Given the description of an element on the screen output the (x, y) to click on. 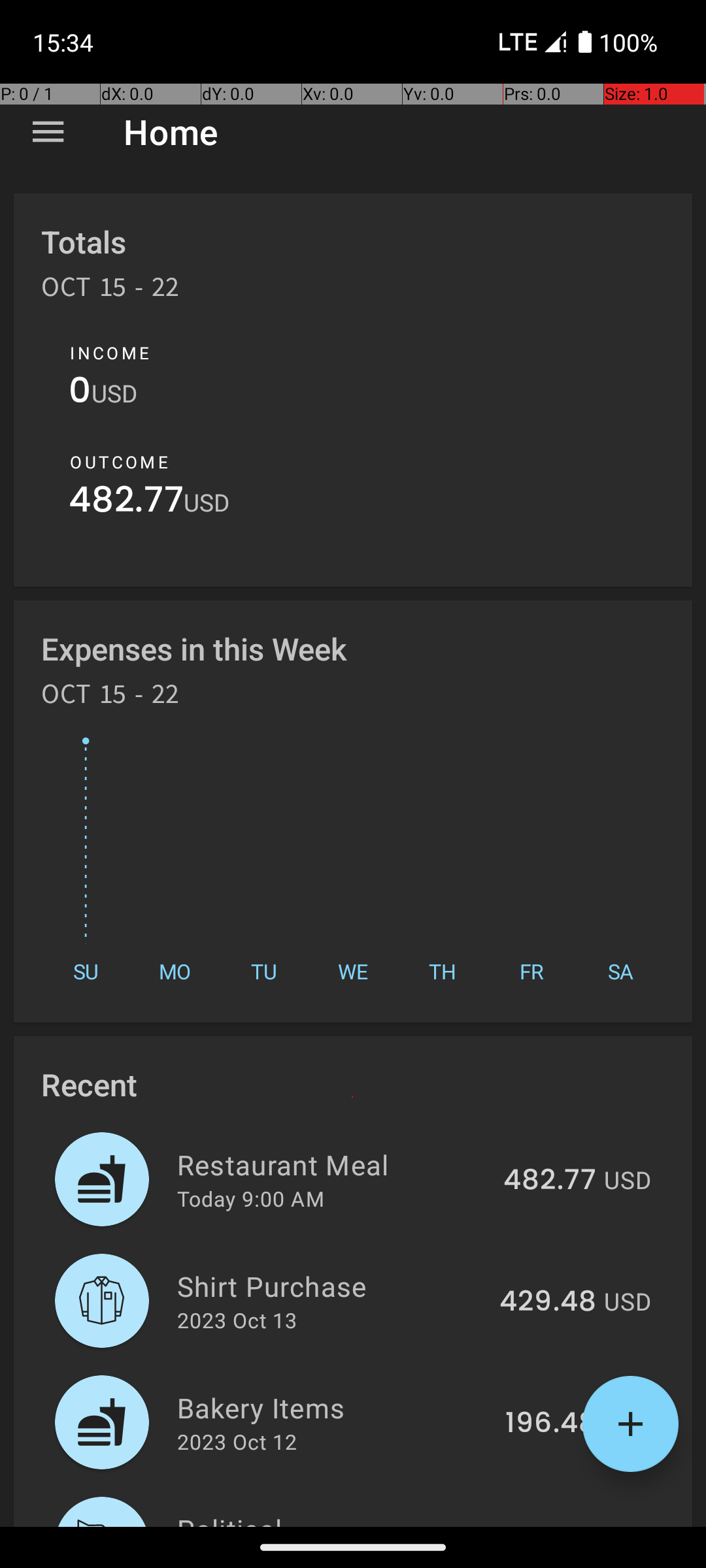
482.77 Element type: android.widget.TextView (125, 502)
Restaurant Meal Element type: android.widget.TextView (332, 1164)
Today 9:00 AM Element type: android.widget.TextView (250, 1198)
Shirt Purchase Element type: android.widget.TextView (330, 1285)
429.48 Element type: android.widget.TextView (547, 1301)
Bakery Items Element type: android.widget.TextView (333, 1407)
196.48 Element type: android.widget.TextView (550, 1423)
Political Element type: android.widget.TextView (334, 1518)
399.61 Element type: android.widget.TextView (550, 1524)
